Given the description of an element on the screen output the (x, y) to click on. 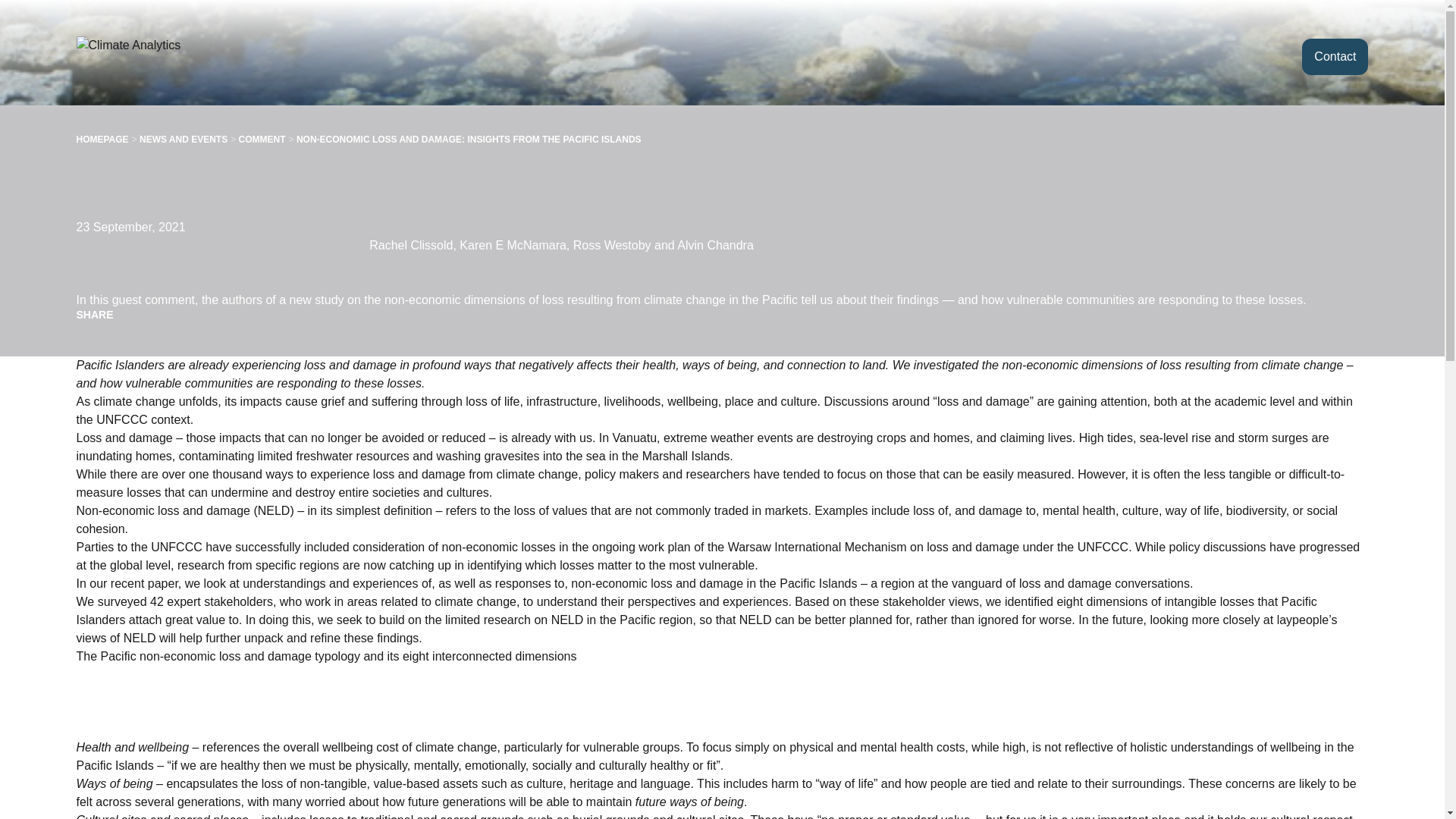
Contact (1334, 55)
Return to homepage (153, 56)
